Given the description of an element on the screen output the (x, y) to click on. 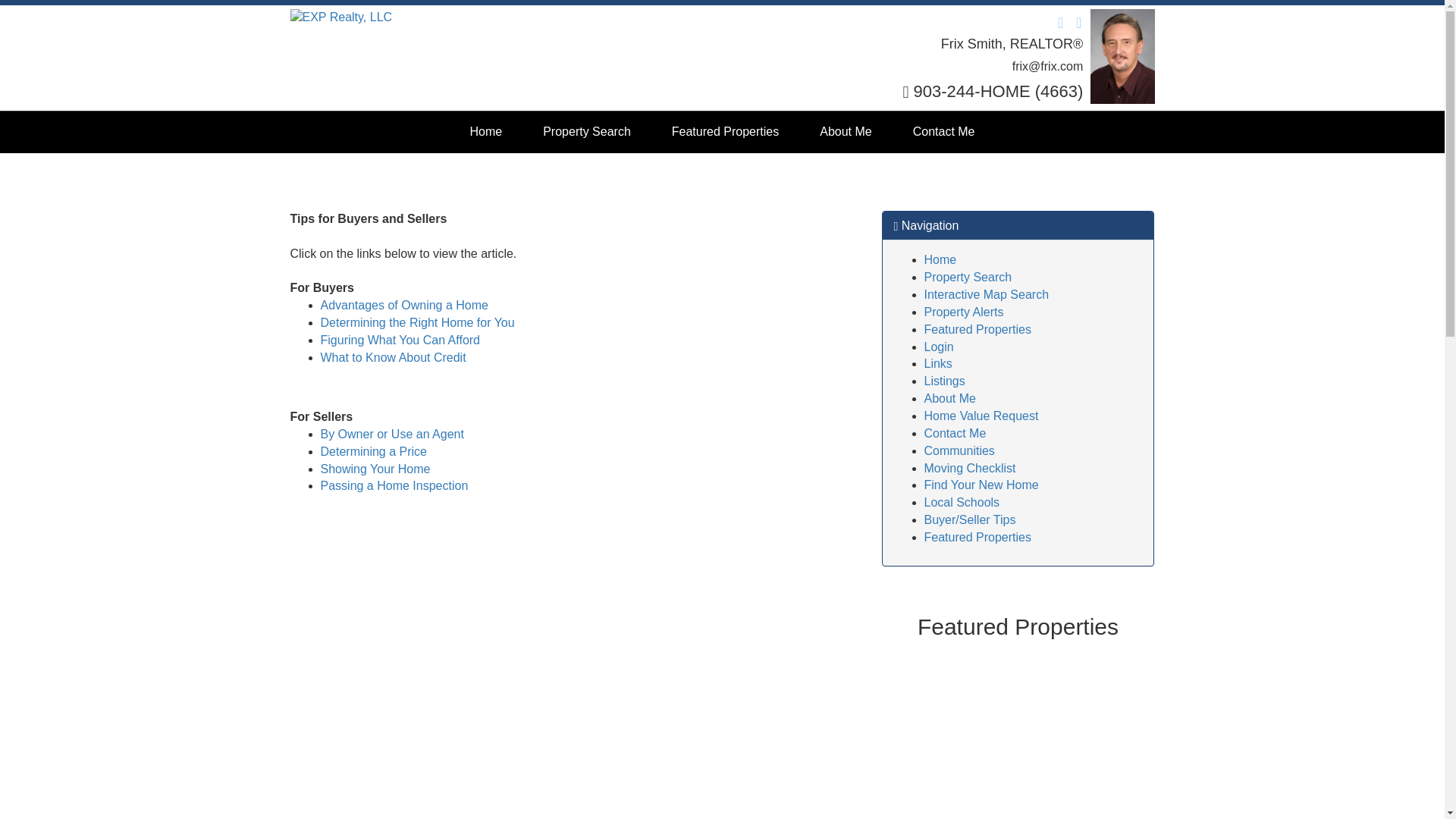
About Me (949, 398)
Property Alerts (963, 311)
Featured Properties (725, 132)
Facebook (1055, 20)
Determining the Right Home for You (416, 322)
Property Search (967, 277)
Home (939, 259)
Contact Me (944, 132)
Home (939, 259)
What to Know About Credit (392, 357)
